Given the description of an element on the screen output the (x, y) to click on. 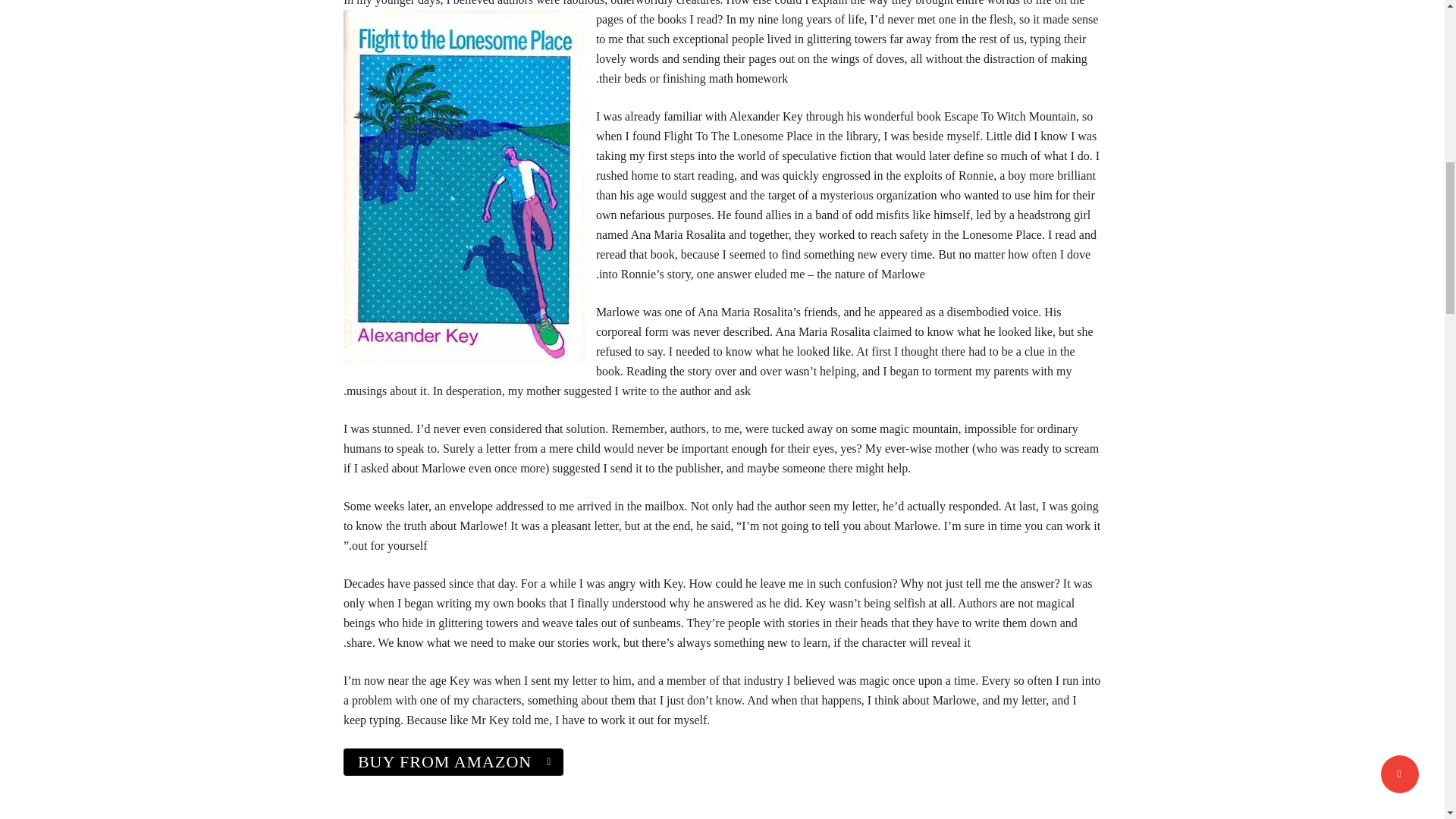
BUY FROM AMAZON (453, 761)
